Given the description of an element on the screen output the (x, y) to click on. 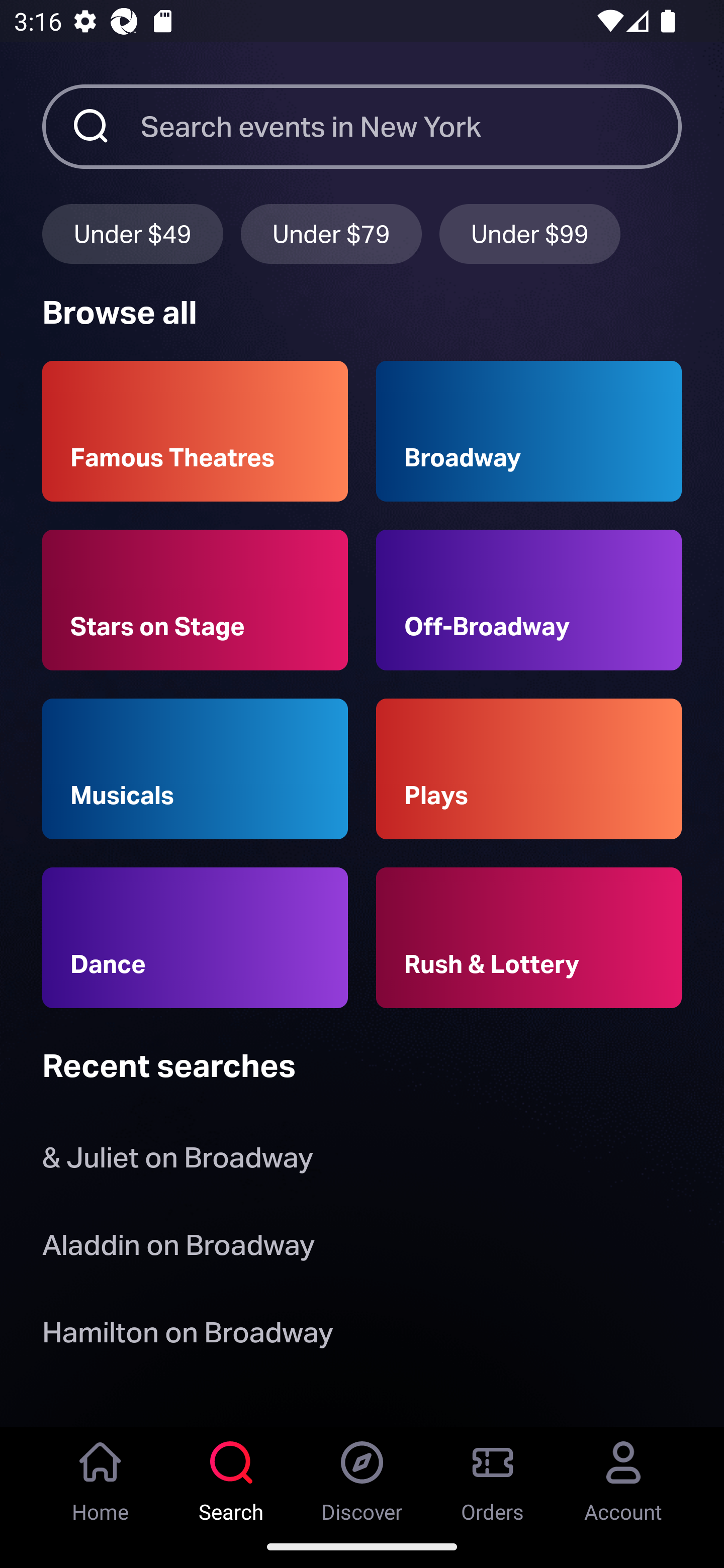
Search events in New York (411, 126)
Under $49 (131, 233)
Under $79 (331, 233)
Under $99 (529, 233)
Famous Theatres (194, 430)
Broadway (528, 430)
Stars on Stage (194, 600)
Off-Broadway (528, 600)
Musicals (194, 768)
Plays (528, 768)
Dance (194, 937)
Rush & Lottery (528, 937)
& Juliet on Broadway  (180, 1161)
Aladdin on Broadway (177, 1248)
Hamilton on Broadway (187, 1335)
Home (100, 1475)
Discover (361, 1475)
Orders (492, 1475)
Account (623, 1475)
